Given the description of an element on the screen output the (x, y) to click on. 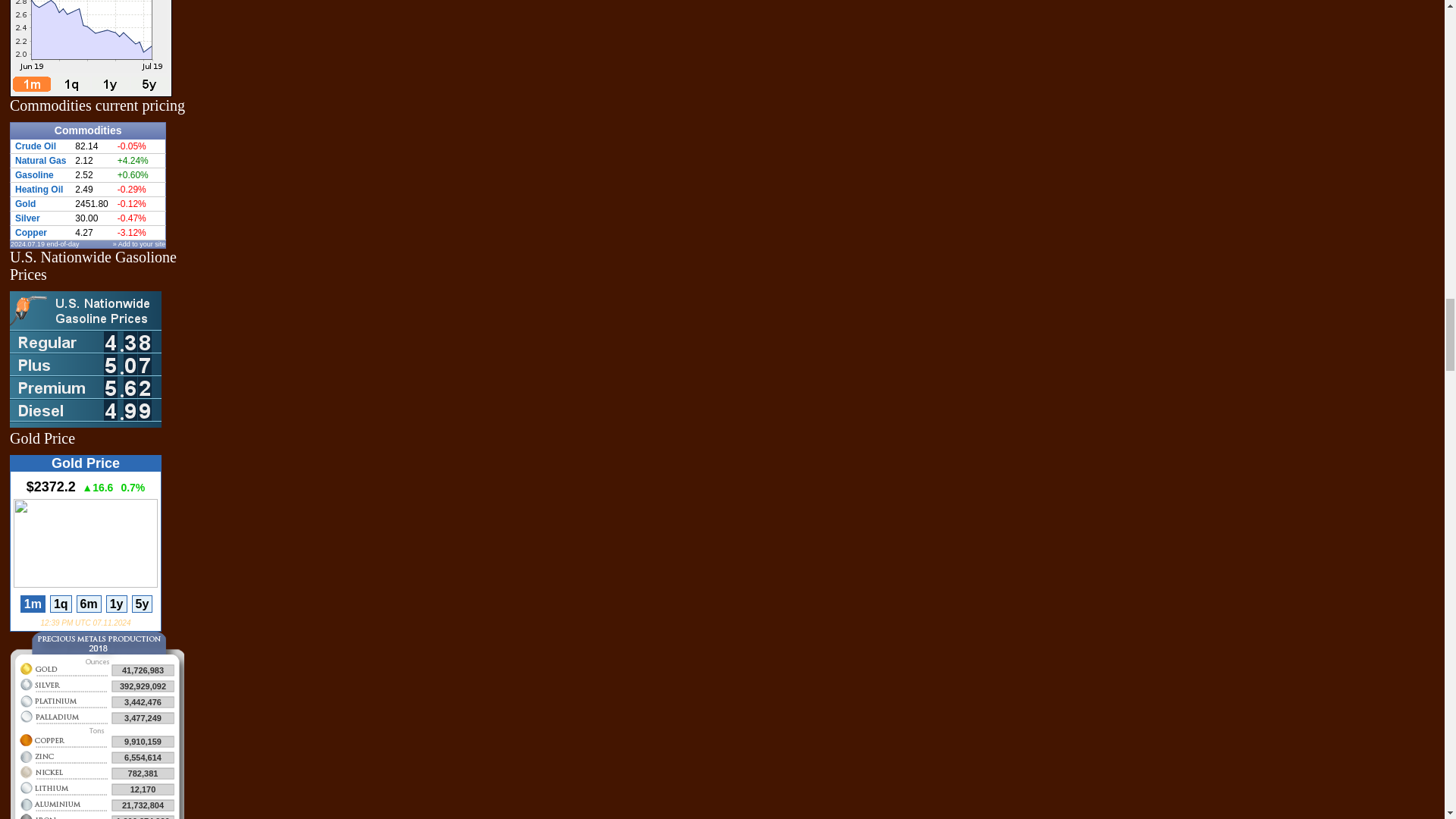
Gasoline (33, 174)
OilPrice.com (97, 725)
Copper (30, 232)
Crude Oil (35, 145)
Gold (24, 204)
Natural Gas (39, 160)
Silver (27, 217)
Heating Oil (38, 189)
